Given the description of an element on the screen output the (x, y) to click on. 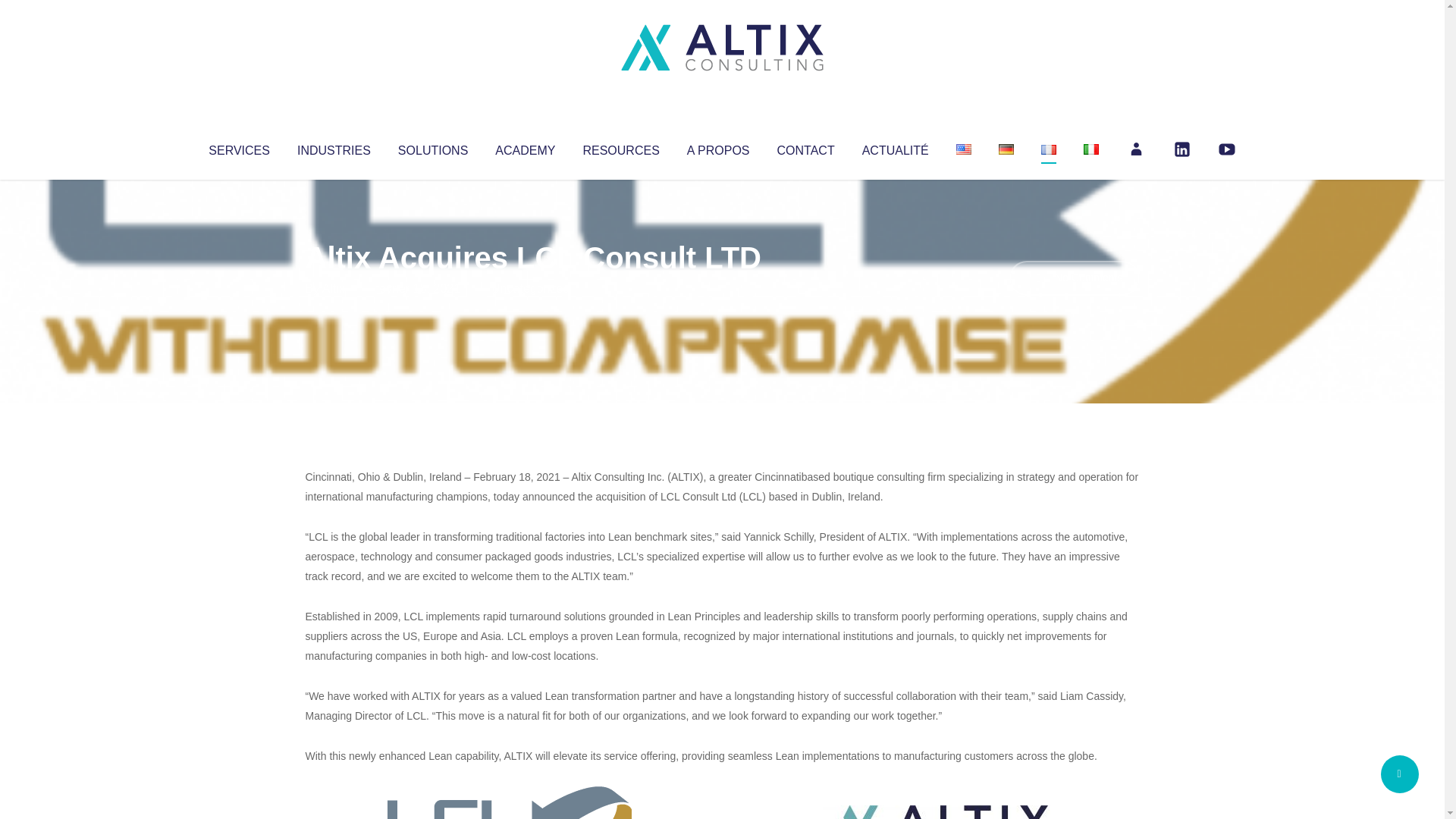
No Comments (1073, 278)
INDUSTRIES (334, 146)
Uncategorized (530, 287)
SOLUTIONS (432, 146)
Articles par Altix (333, 287)
ACADEMY (524, 146)
A PROPOS (718, 146)
SERVICES (238, 146)
RESOURCES (620, 146)
Altix (333, 287)
